Given the description of an element on the screen output the (x, y) to click on. 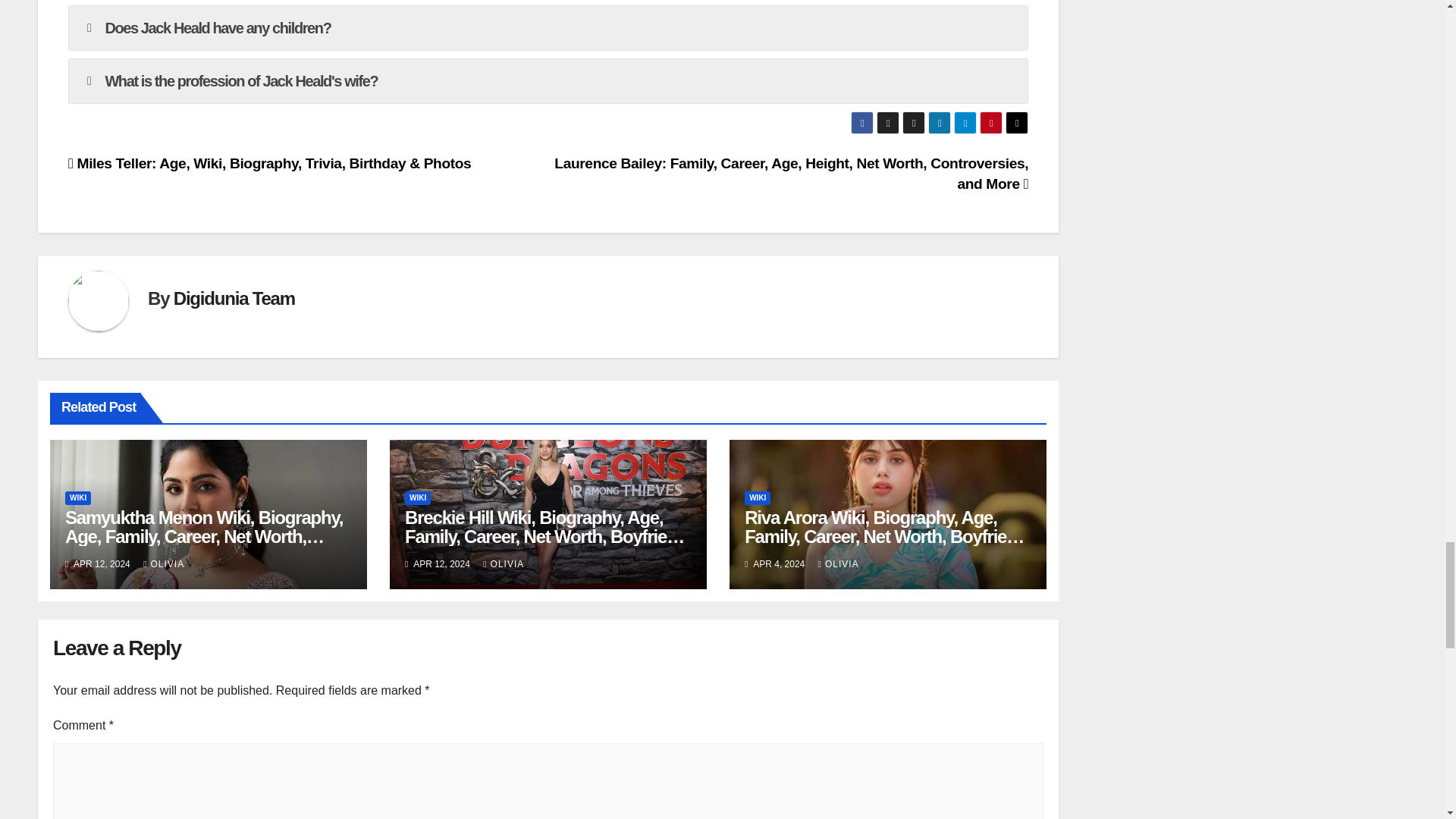
What is the profession of Jack Heald's wife? (547, 80)
Does Jack Heald have any children? (547, 27)
